Given the description of an element on the screen output the (x, y) to click on. 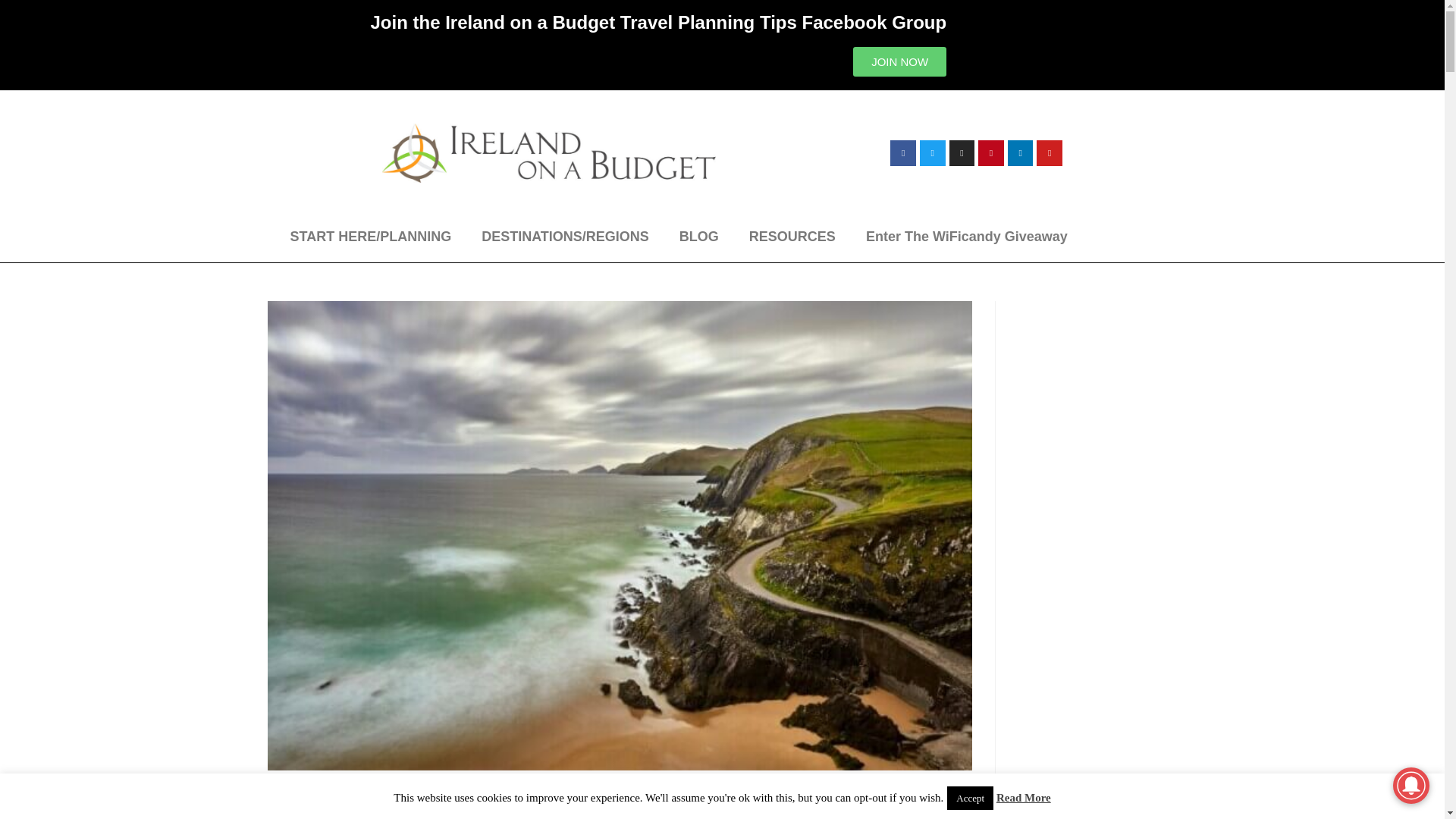
JOIN NOW (899, 61)
Enter The WiFicandy Giveaway (966, 236)
RESOURCES (791, 236)
BLOG (698, 236)
